Given the description of an element on the screen output the (x, y) to click on. 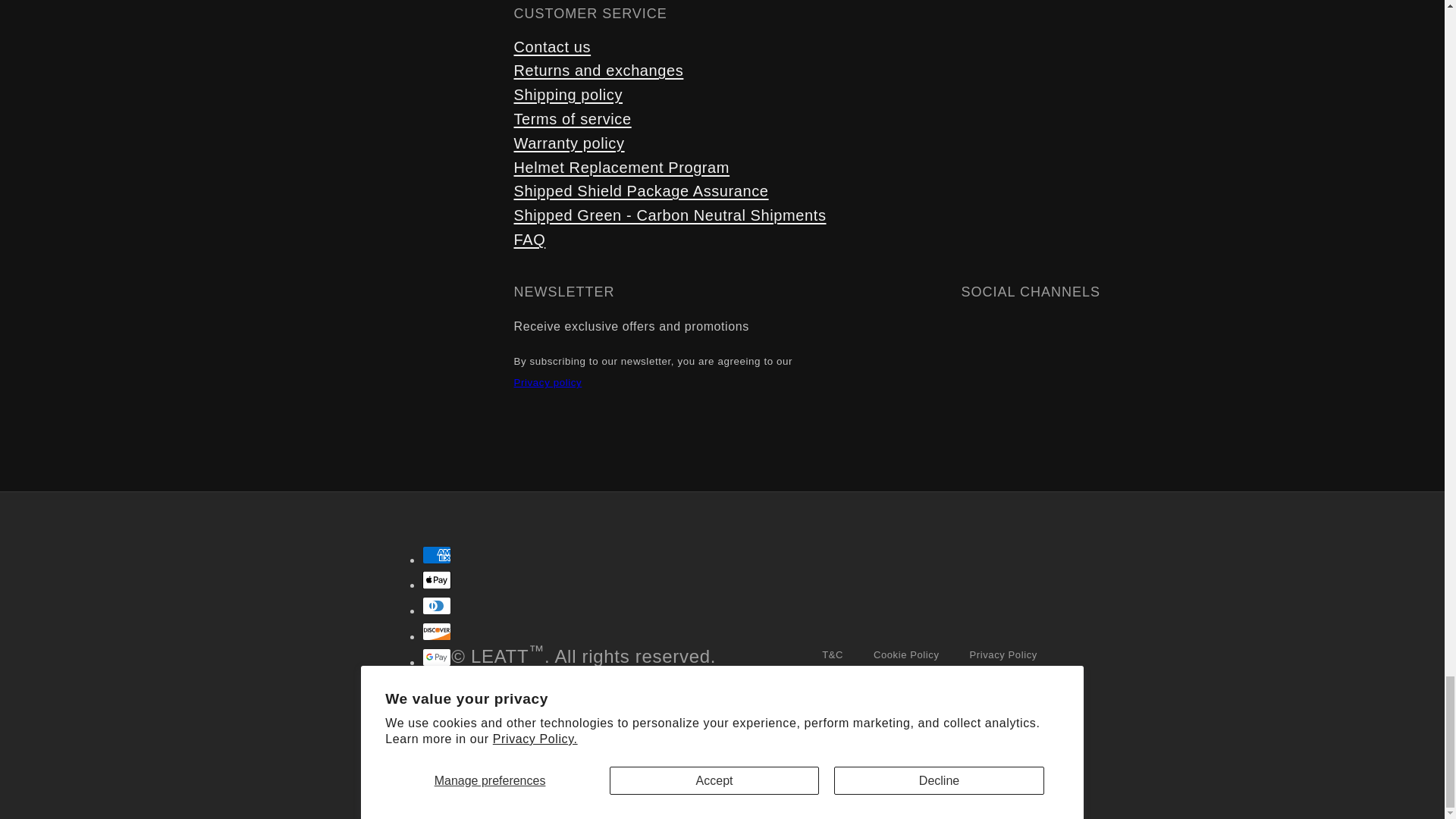
Mastercard (436, 683)
Diners Club (436, 606)
American Express (436, 555)
Apple Pay (436, 579)
PayPal (436, 708)
Visa (436, 760)
Shop Pay (436, 733)
Google Pay (436, 657)
Discover (436, 631)
